Given the description of an element on the screen output the (x, y) to click on. 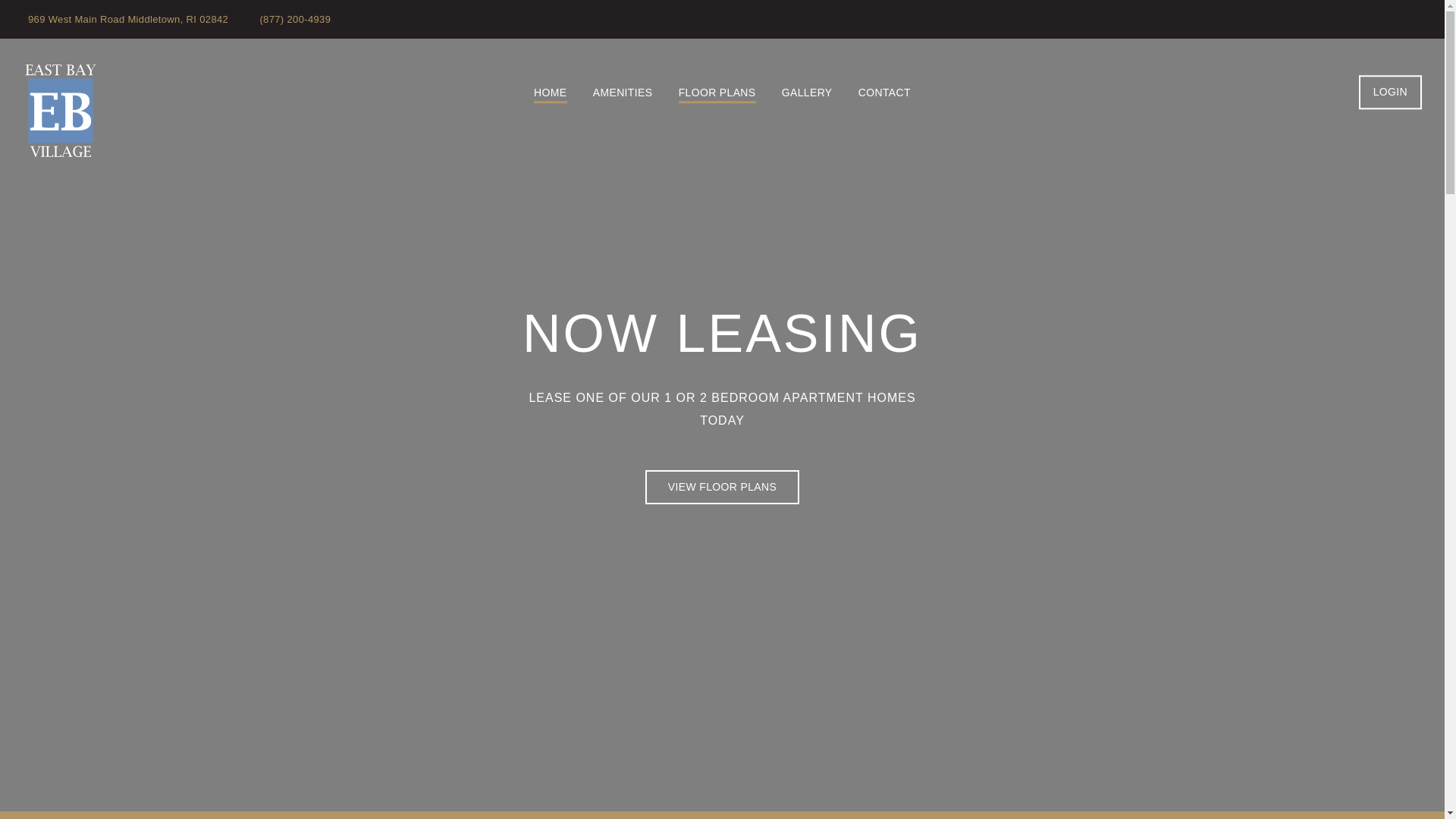
HOME (550, 93)
VIEW FLOOR PLANS (722, 487)
AMENITIES (622, 93)
GALLERY (806, 93)
CONTACT (885, 93)
969 West Main Road Middletown, RI 02842 (125, 19)
LOGIN (1390, 91)
FLOOR PLANS (716, 93)
